Given the description of an element on the screen output the (x, y) to click on. 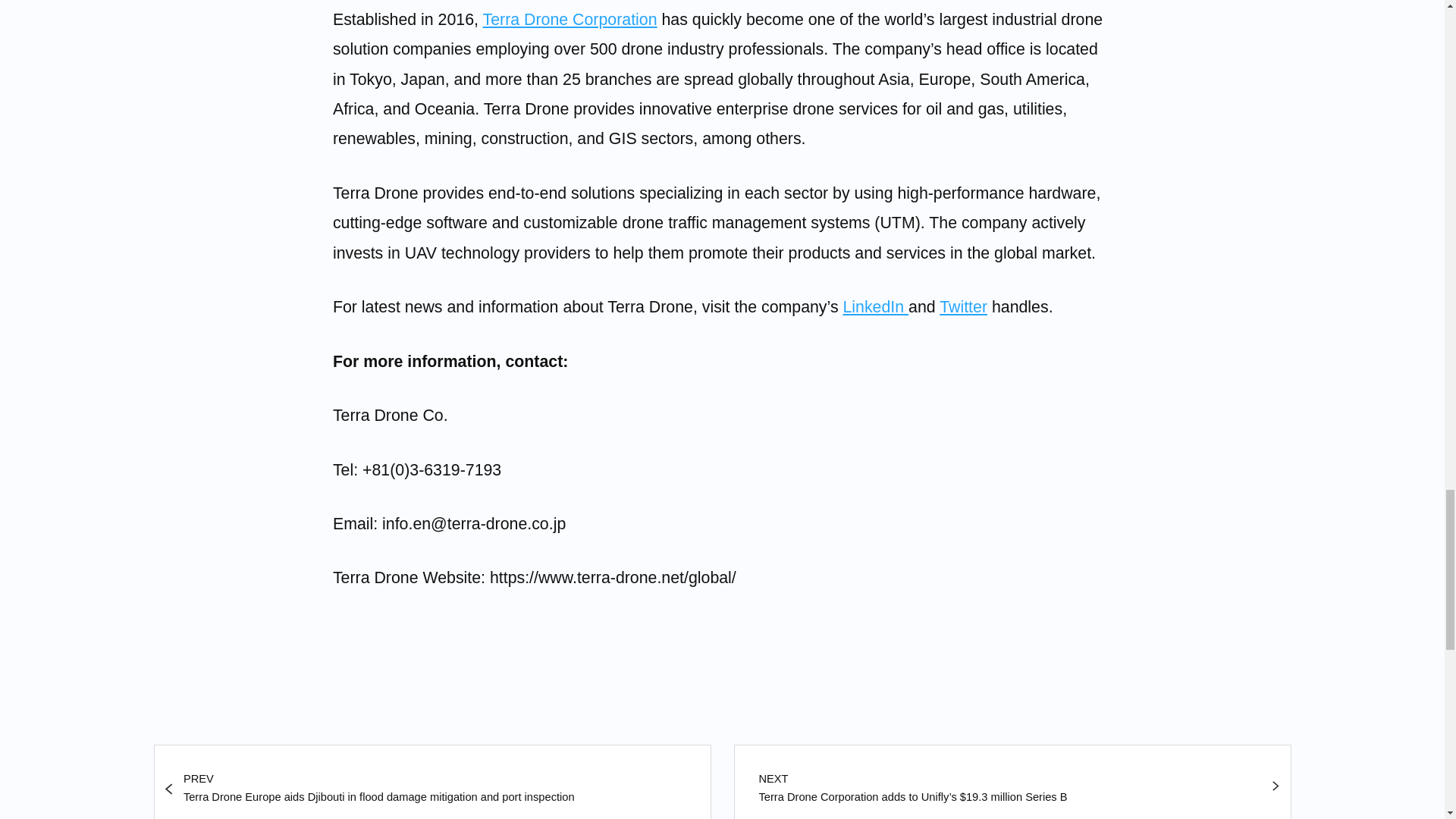
Twitter (963, 307)
LinkedIn (875, 307)
Terra Drone Corporation (570, 19)
